Given the description of an element on the screen output the (x, y) to click on. 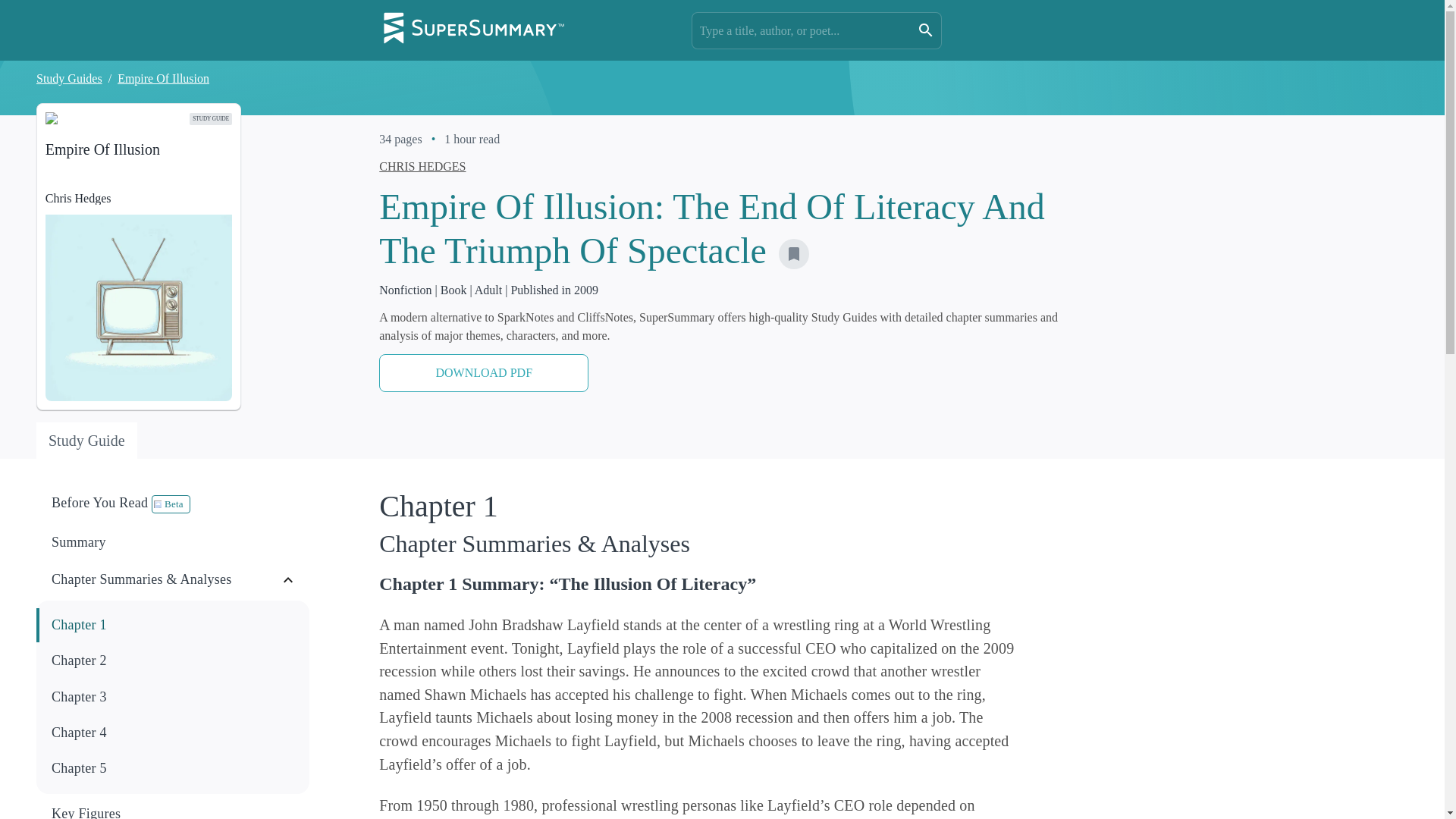
Chapter 1 (173, 625)
Add to Saved Guides (138, 256)
Summary (793, 254)
Chapter 1 (173, 542)
Chapter 5 (172, 625)
DOWNLOAD PDF (173, 768)
Empire Of Illusion (483, 372)
Key Figures (163, 78)
Chapter 4 (173, 812)
Study Guide (173, 732)
Key Figures (172, 504)
Go to homepage (86, 440)
Chapter 3 (172, 807)
